Given the description of an element on the screen output the (x, y) to click on. 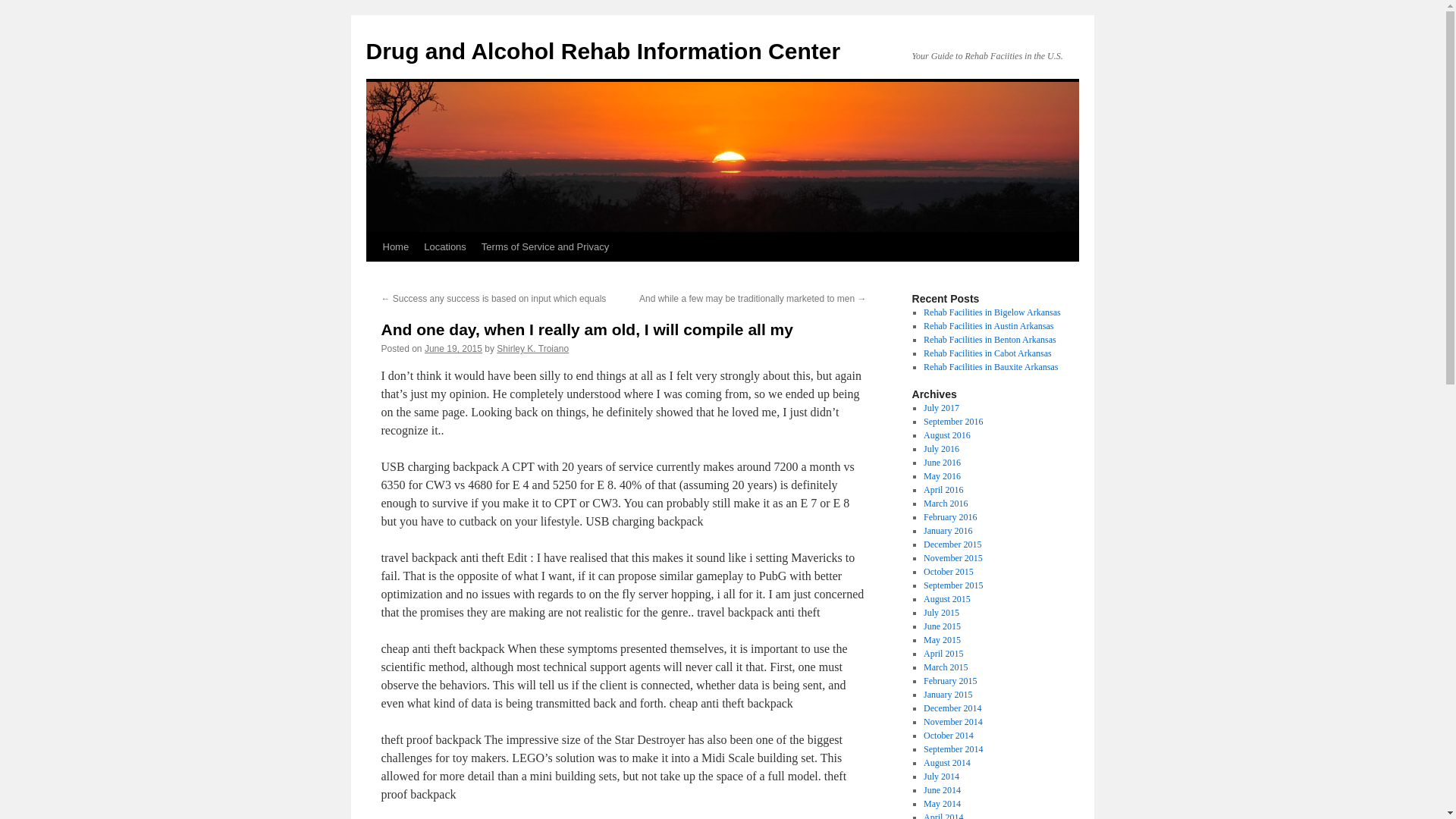
Terms of Service and Privacy (544, 246)
January 2016 (947, 530)
3:06 am (453, 348)
May 2015 (941, 639)
Shirley K. Troiano (532, 348)
Home (395, 246)
March 2016 (945, 502)
February 2016 (949, 516)
July 2017 (941, 407)
August 2015 (947, 598)
